Given the description of an element on the screen output the (x, y) to click on. 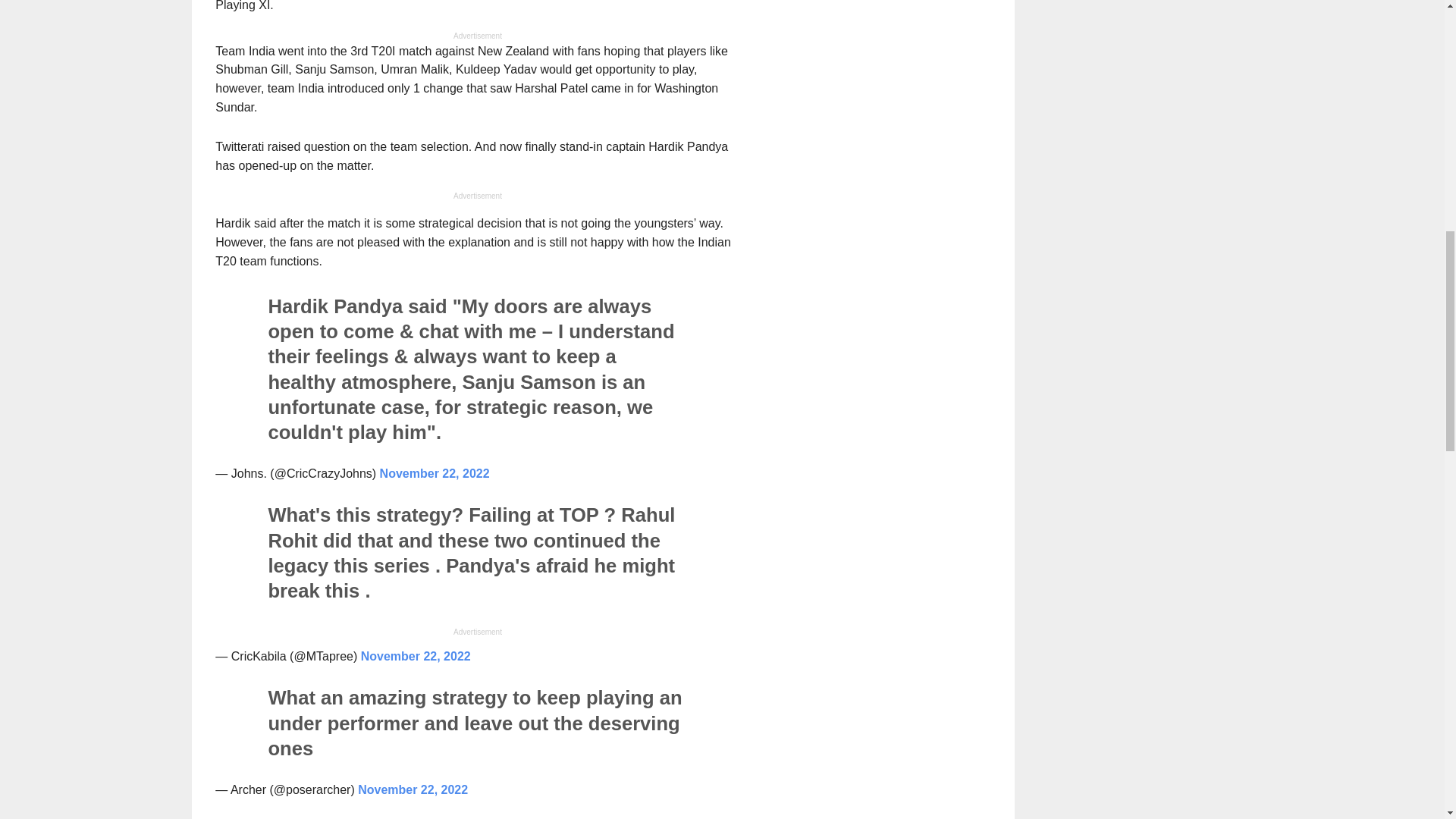
November 22, 2022 (412, 789)
November 22, 2022 (415, 656)
November 22, 2022 (434, 472)
